Given the description of an element on the screen output the (x, y) to click on. 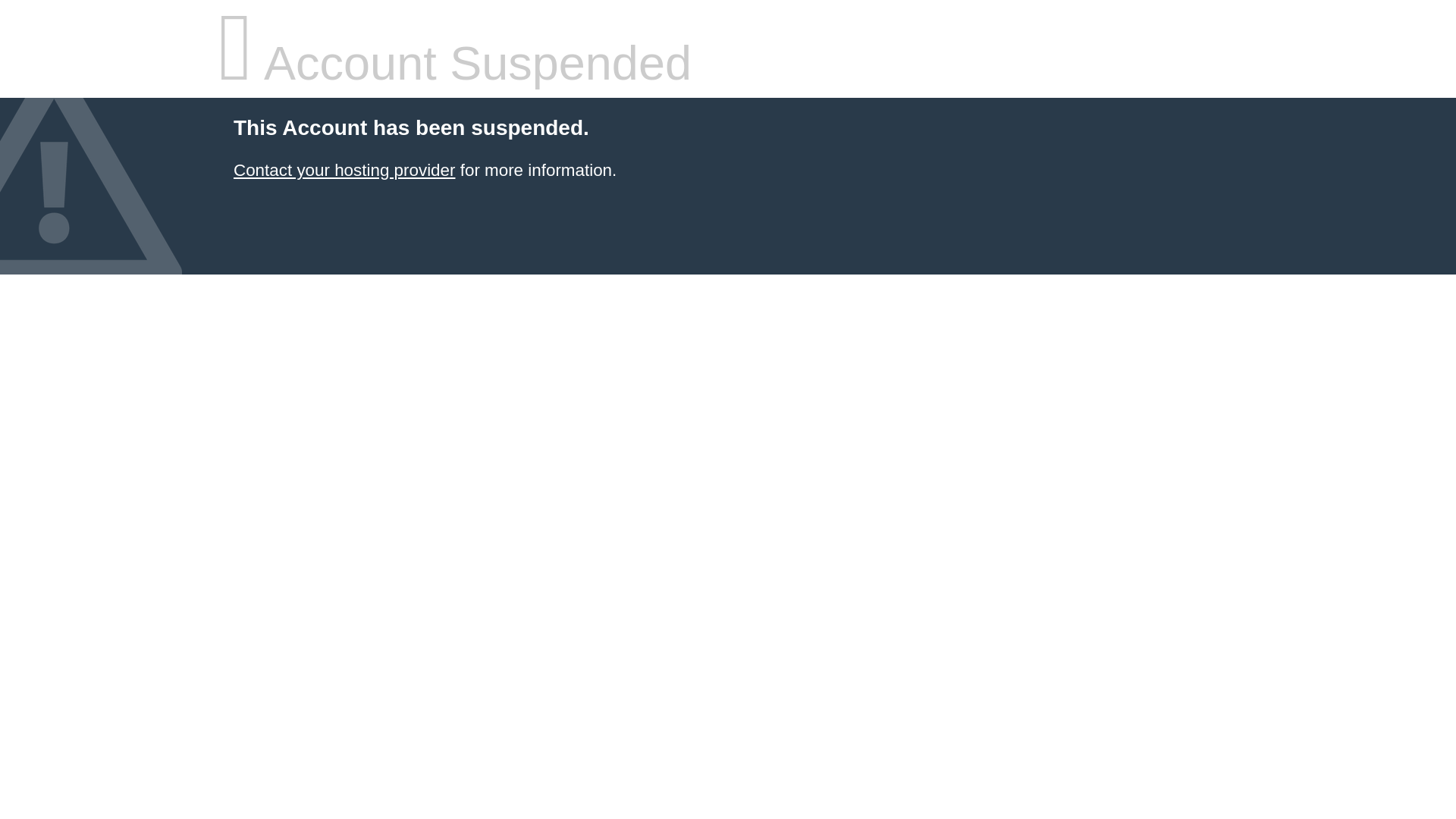
Contact your hosting provider (343, 169)
